Given the description of an element on the screen output the (x, y) to click on. 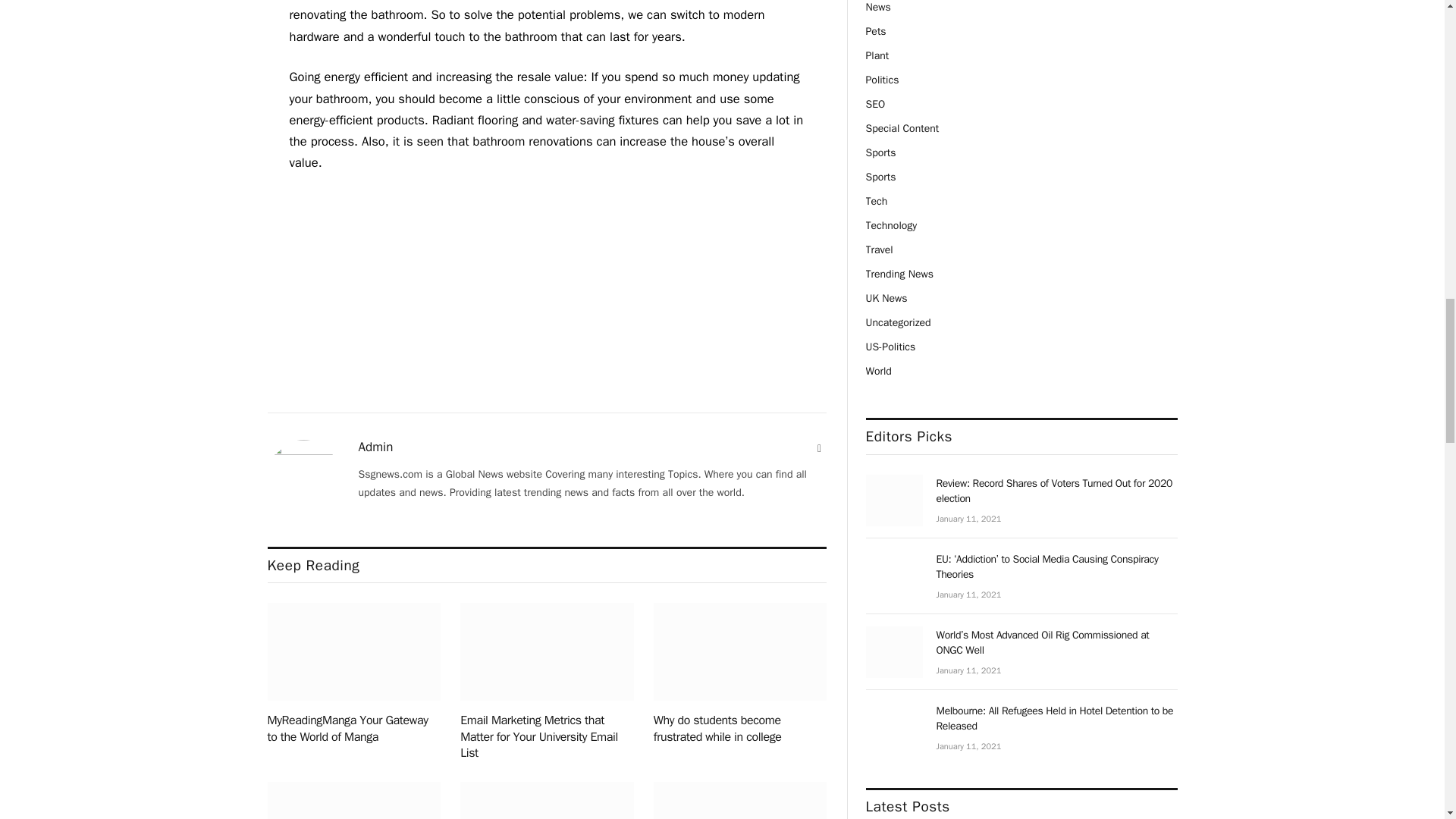
Posts by Admin (375, 447)
